Given the description of an element on the screen output the (x, y) to click on. 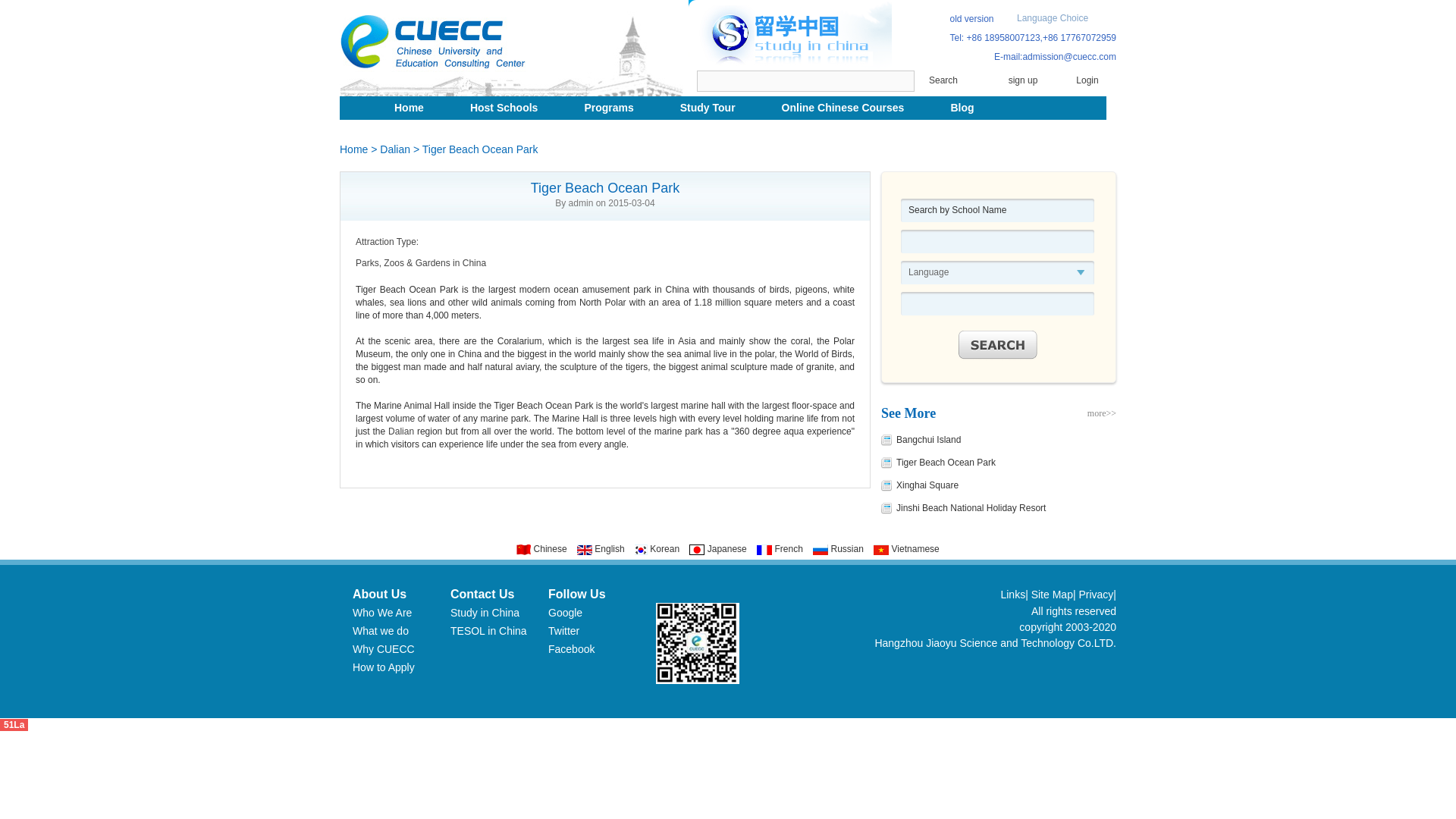
Host Schools (505, 107)
Home (410, 107)
Study Tour (709, 107)
old version (970, 18)
Home (353, 149)
Dalian Travel Guide (400, 430)
Online Chinese Courses (844, 107)
Programs (610, 107)
Login (1087, 81)
Search by School Name (997, 210)
Blog (963, 107)
sign up (1022, 81)
